Given the description of an element on the screen output the (x, y) to click on. 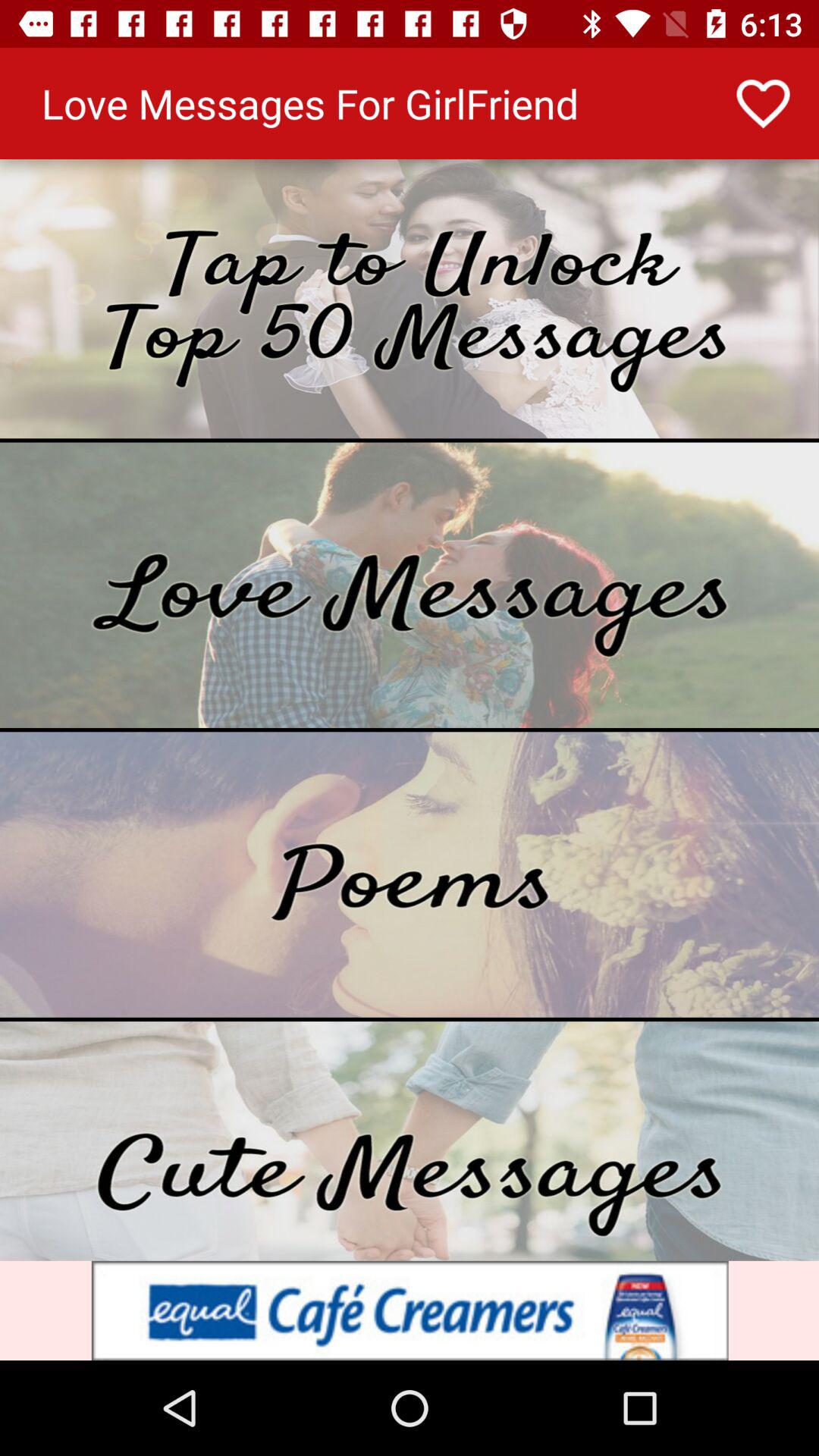
shows a list of poems (409, 874)
